Given the description of an element on the screen output the (x, y) to click on. 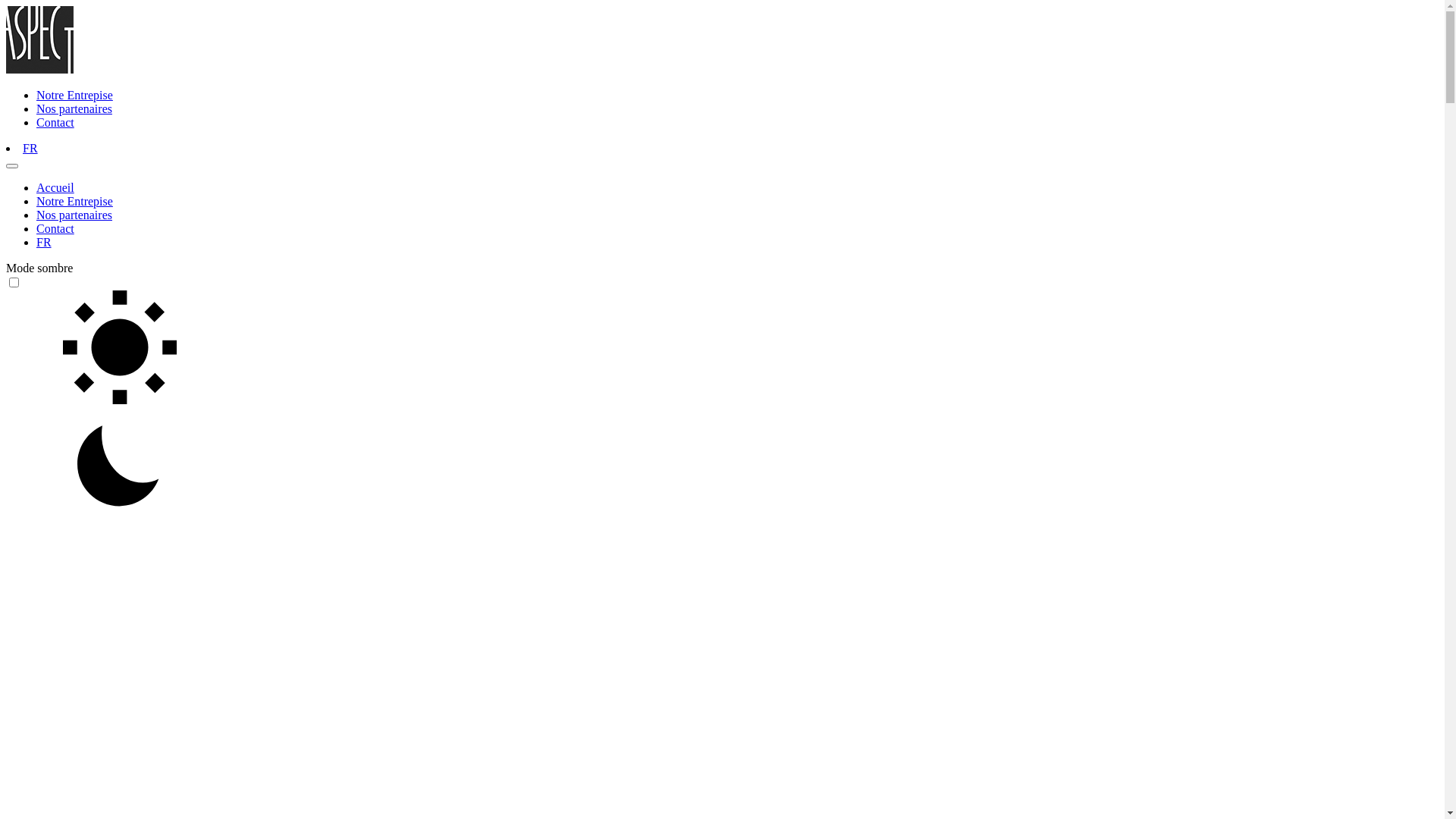
Contact Element type: text (55, 122)
Notre Entrepise Element type: text (74, 94)
FR Element type: text (29, 147)
Nos partenaires Element type: text (74, 108)
Contact Element type: text (55, 228)
Accueil Element type: text (55, 187)
Nos partenaires Element type: text (74, 214)
Notre Entrepise Element type: text (74, 200)
FR Element type: text (43, 241)
